Given the description of an element on the screen output the (x, y) to click on. 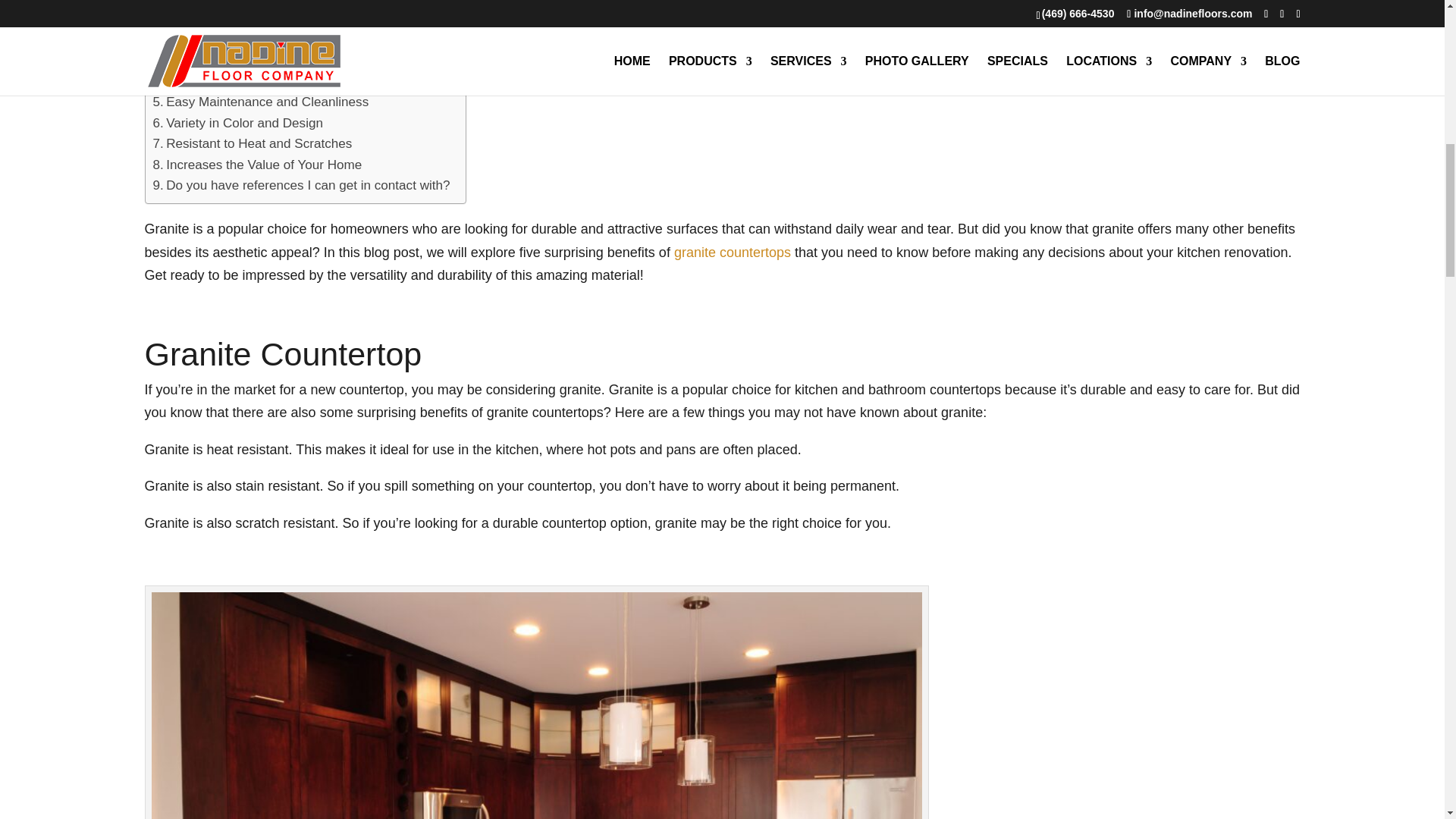
5 Benefits of Granite Countertops (255, 60)
Variety in Color and Design (237, 123)
Do you have references I can get in contact with? (300, 185)
Increases the Value of Your Home (257, 164)
Easy Maintenance and Cleanliness (260, 101)
Granite Countertop (214, 19)
Resistant to Heat and Scratches (252, 143)
